Given the description of an element on the screen output the (x, y) to click on. 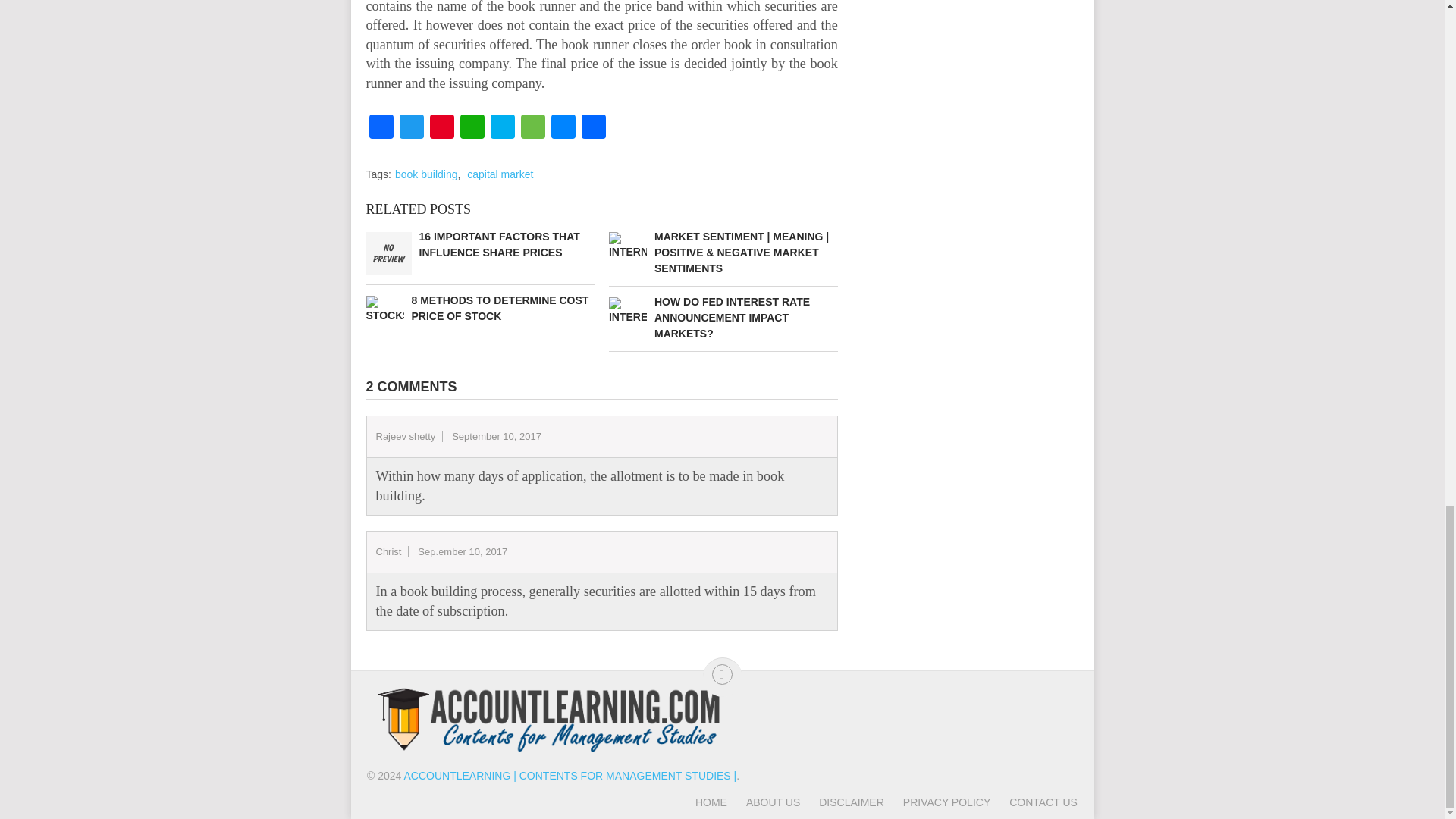
Pinterest (441, 128)
Skype (501, 128)
HOW DO FED INTEREST RATE ANNOUNCEMENT IMPACT MARKETS? (723, 318)
Facebook (380, 128)
Twitter (411, 128)
WhatsApp (471, 128)
Messenger (562, 128)
16 IMPORTANT FACTORS THAT INFLUENCE SHARE PRICES (479, 245)
How do FED Interest Rate announcement Impact Markets? (723, 318)
